Given the description of an element on the screen output the (x, y) to click on. 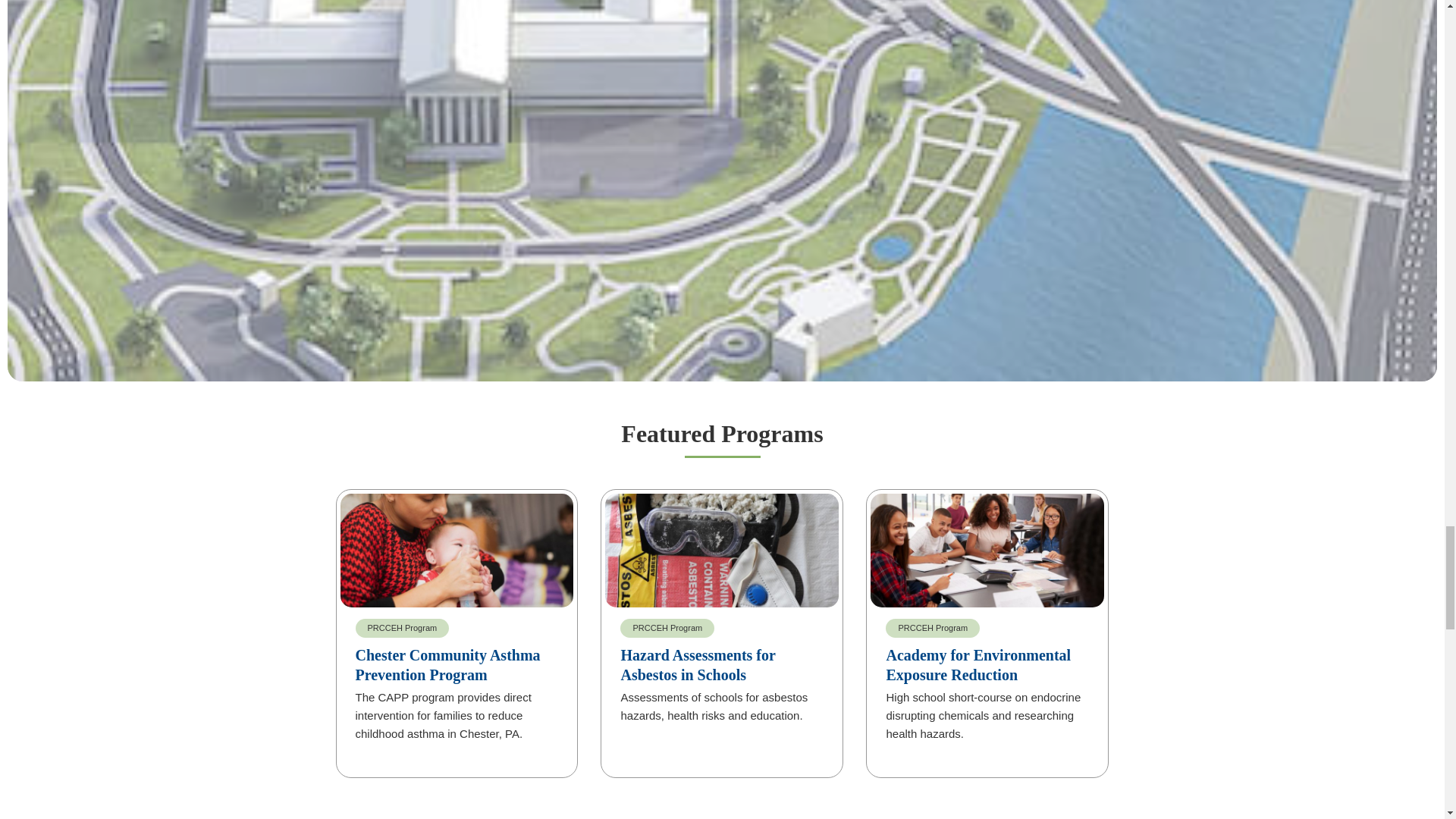
Chester Community Asthma Prevention Program (447, 665)
Academy for Environmental Exposure Reduction (977, 665)
Hazard Assessments for Asbestos in Schools (697, 665)
